Given the description of an element on the screen output the (x, y) to click on. 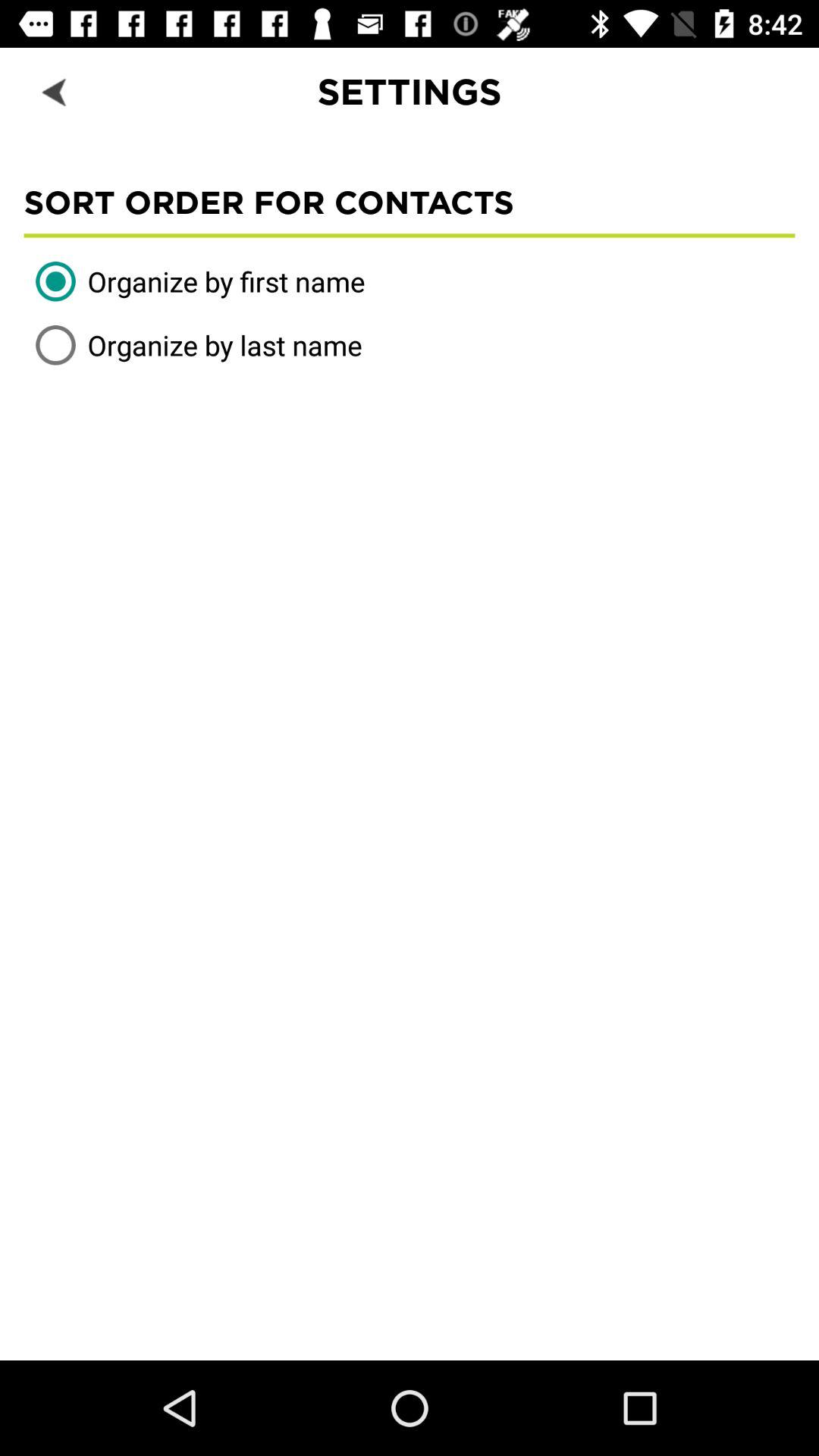
launch the item next to settings icon (55, 91)
